Given the description of an element on the screen output the (x, y) to click on. 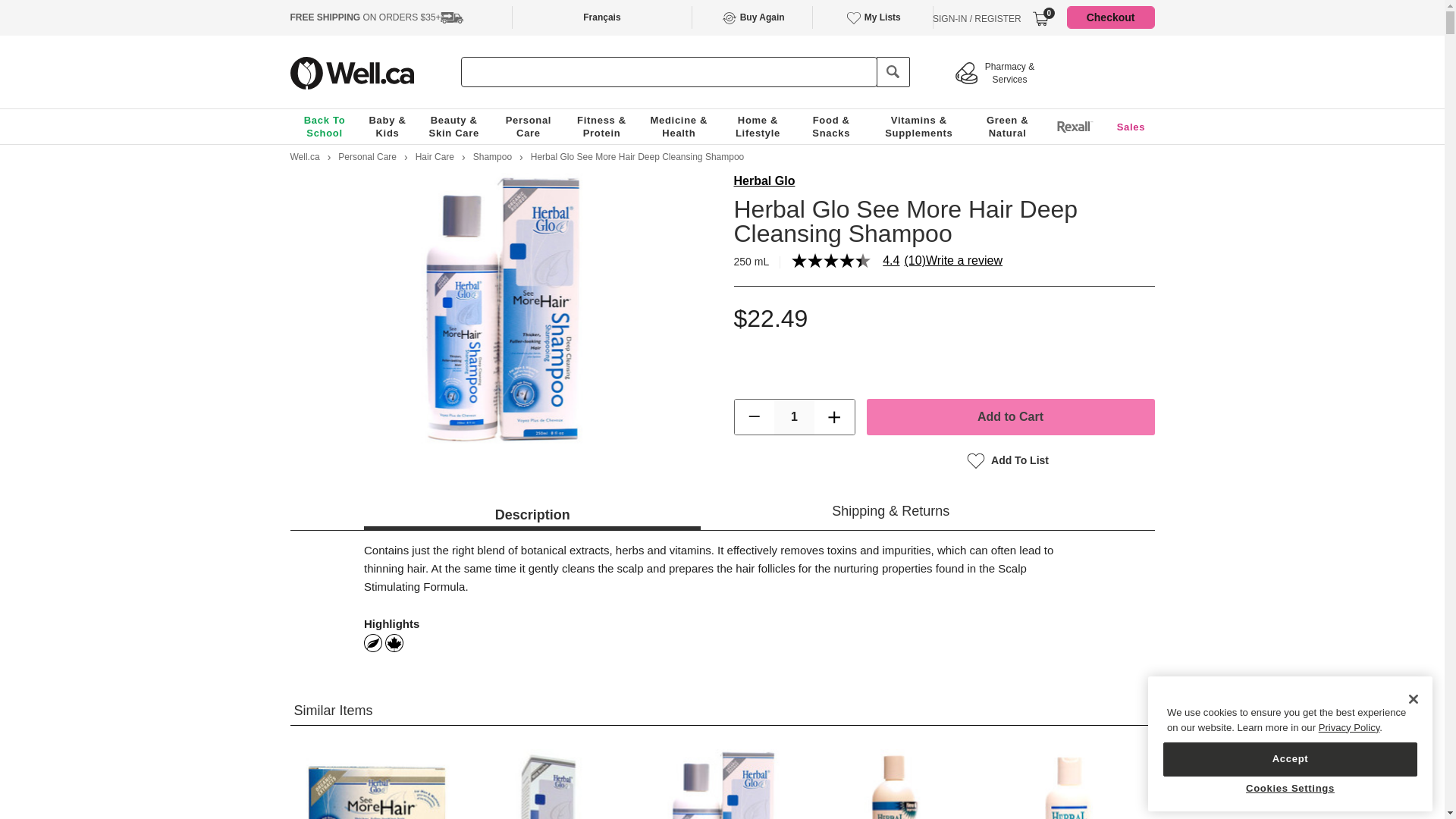
Checkout (1110, 16)
My Lists (872, 16)
Back To School (324, 126)
Add to Cart (1010, 416)
0 (1040, 17)
Buy Again (752, 16)
1 (793, 416)
